Given the description of an element on the screen output the (x, y) to click on. 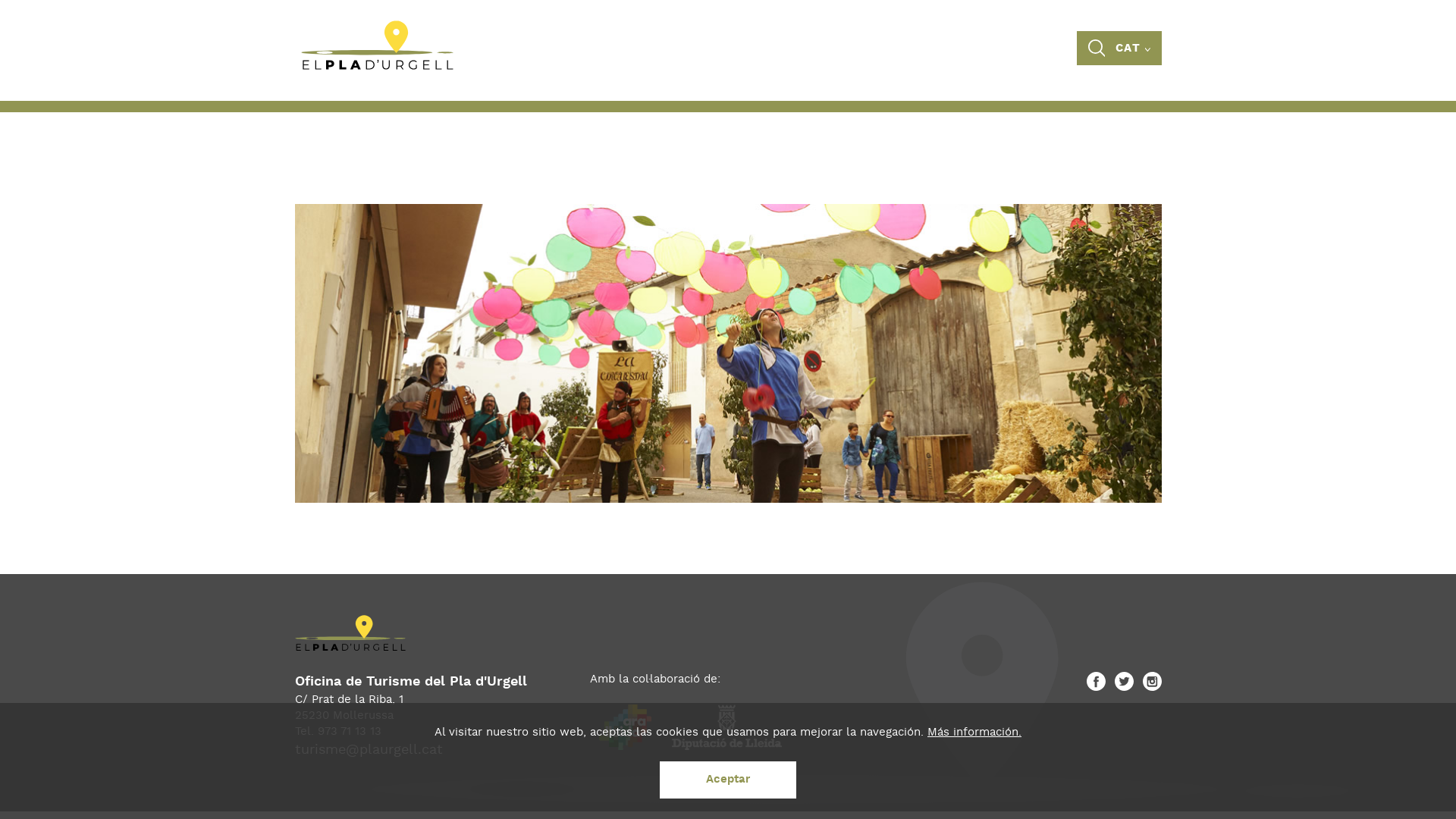
turisme@plaurgell.cat Element type: text (368, 748)
CAT Element type: text (1133, 48)
Aceptar Element type: text (727, 780)
